Given the description of an element on the screen output the (x, y) to click on. 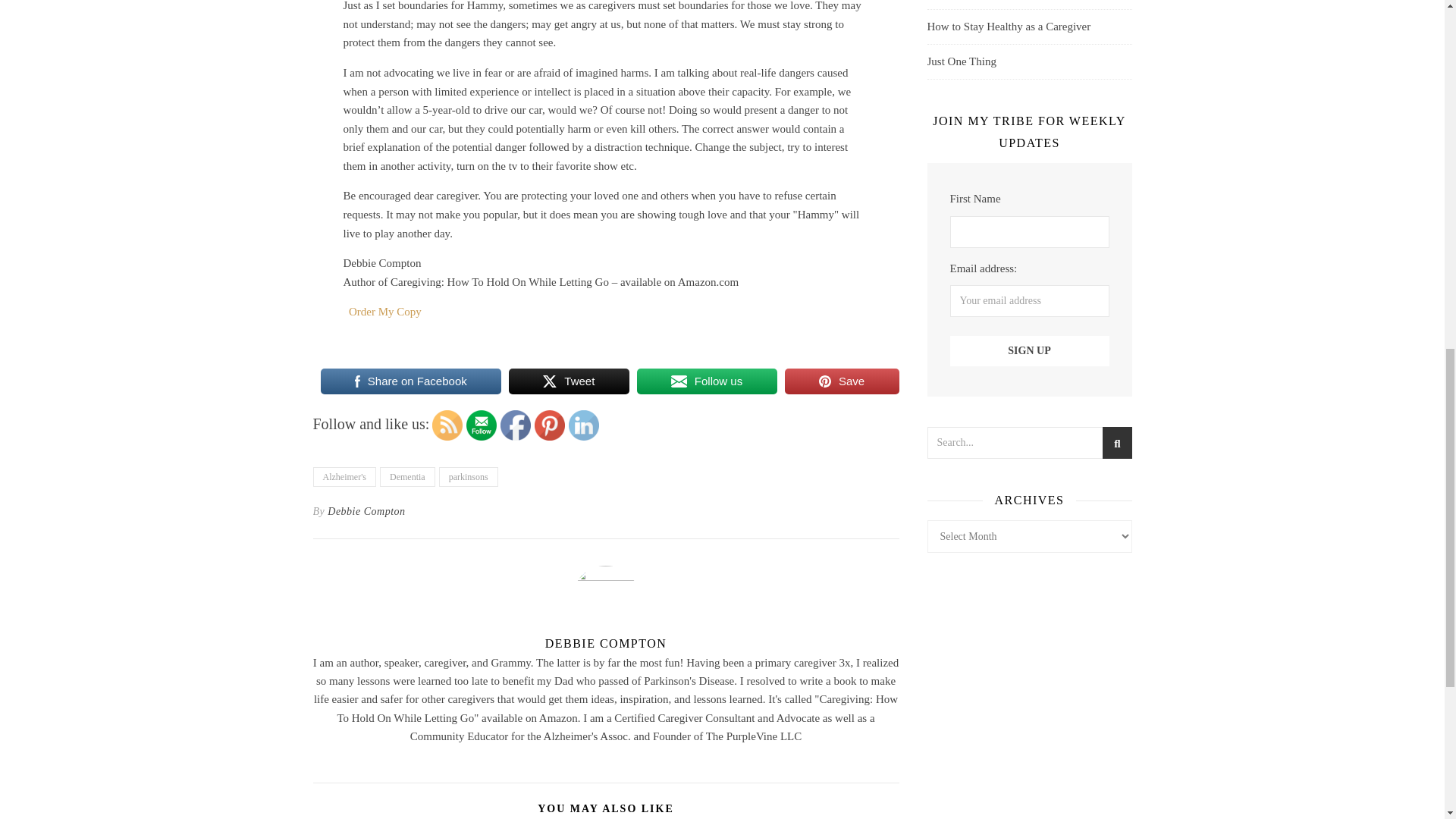
Facebook (515, 425)
Follow by Email (480, 425)
RSS (447, 425)
LinkedIn (583, 425)
Posts by Debbie Compton (365, 511)
Sign up (1028, 350)
Posts by Debbie Compton (605, 643)
Pinterest (549, 425)
